Given the description of an element on the screen output the (x, y) to click on. 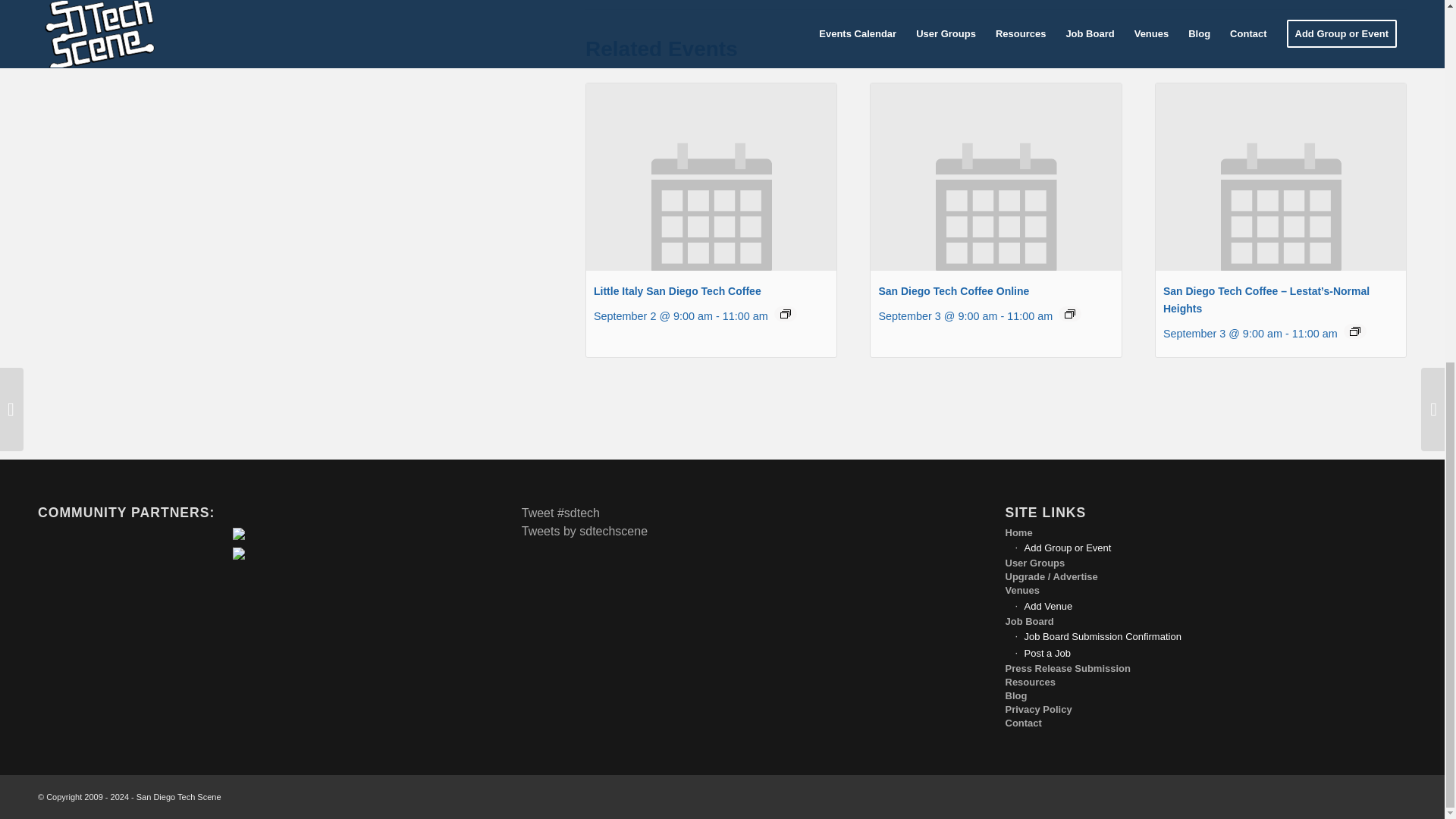
San Diego Tech Coffee Online (953, 291)
Little Italy San Diego Tech Coffee (677, 291)
Event Series (785, 313)
Event Series (1069, 313)
Event Series (1354, 330)
